Given the description of an element on the screen output the (x, y) to click on. 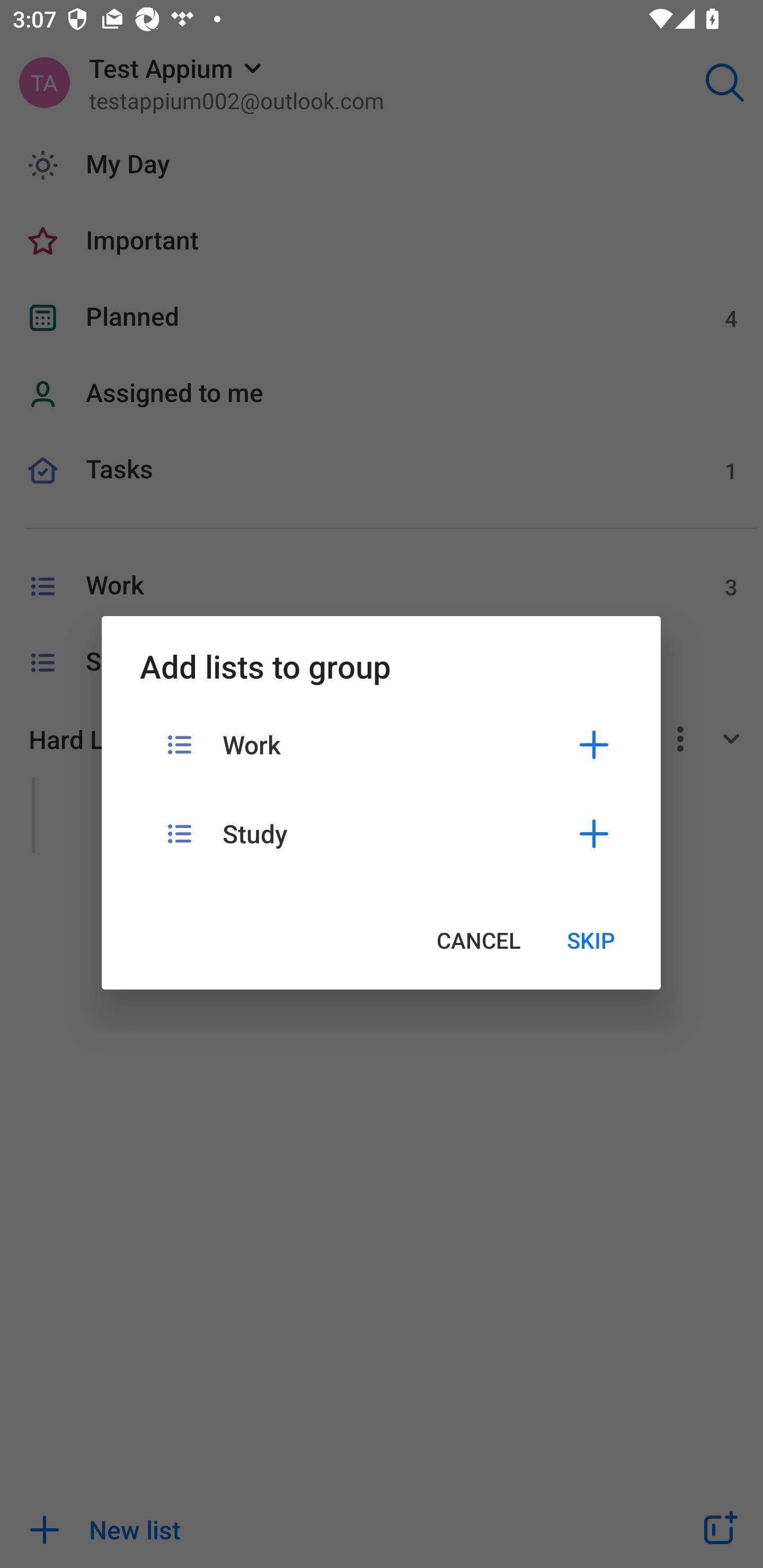
Work (380, 744)
